Given the description of an element on the screen output the (x, y) to click on. 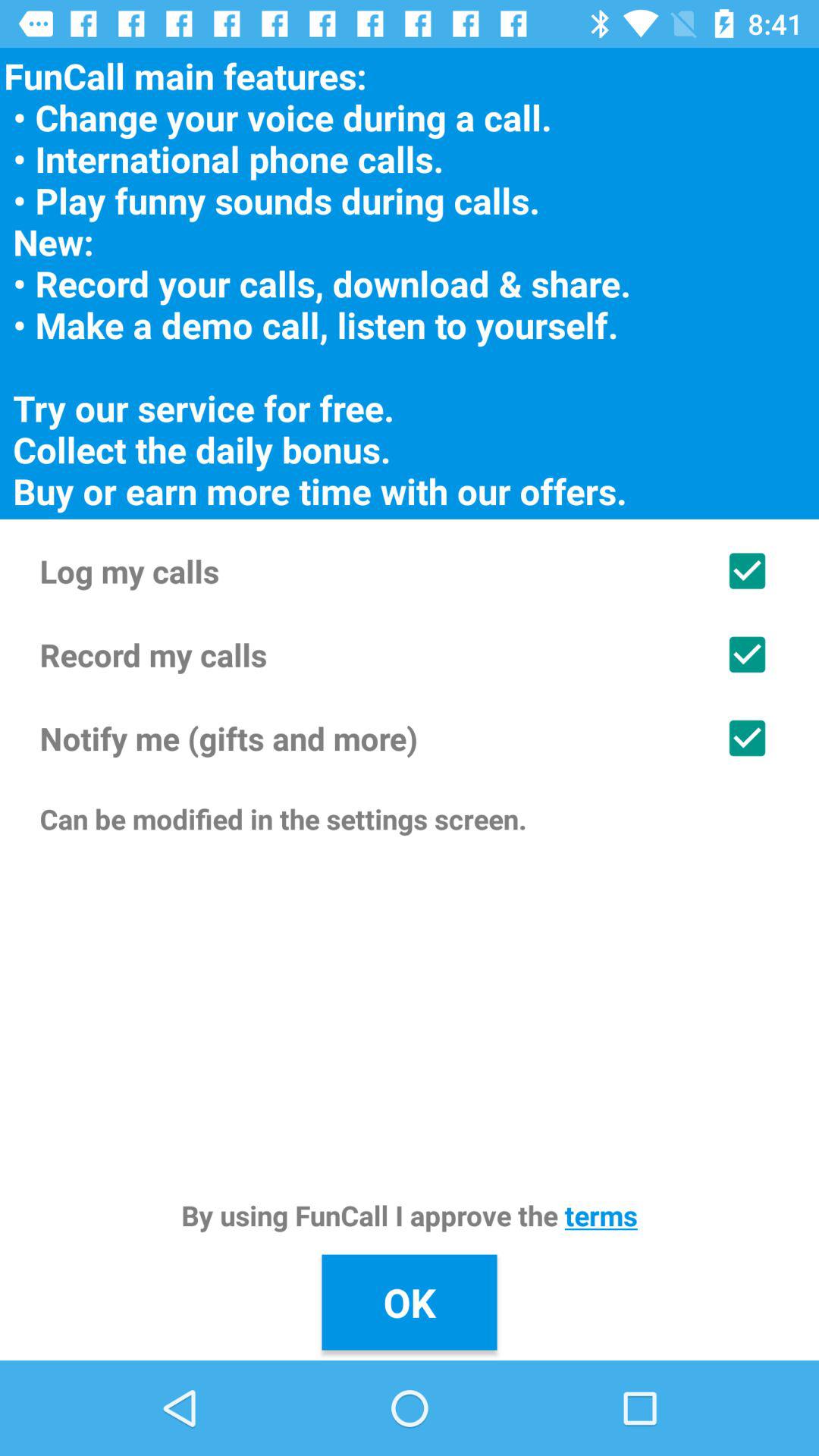
turn on the icon below by using funcall icon (409, 1302)
